Given the description of an element on the screen output the (x, y) to click on. 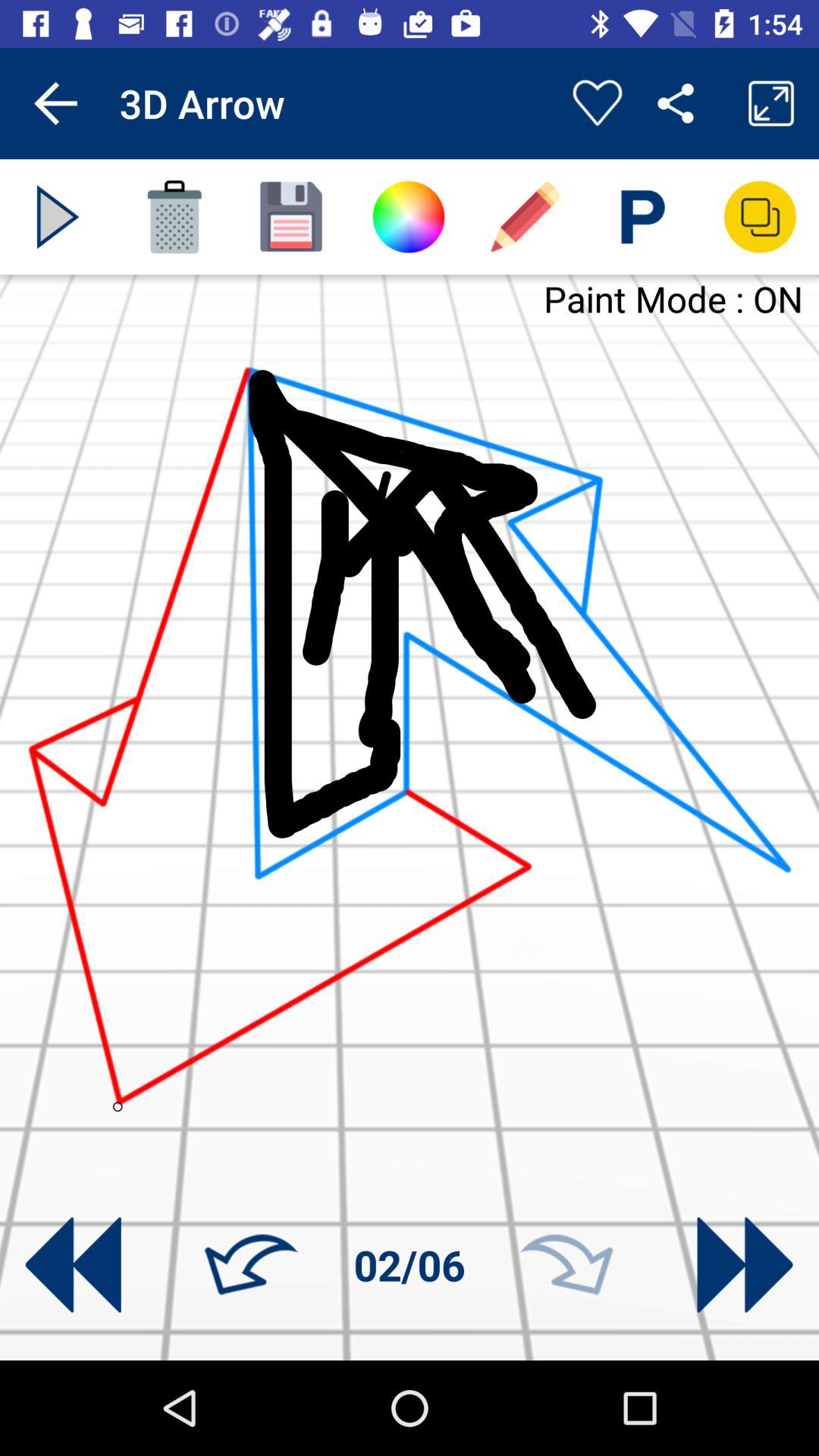
write text (642, 216)
